Given the description of an element on the screen output the (x, y) to click on. 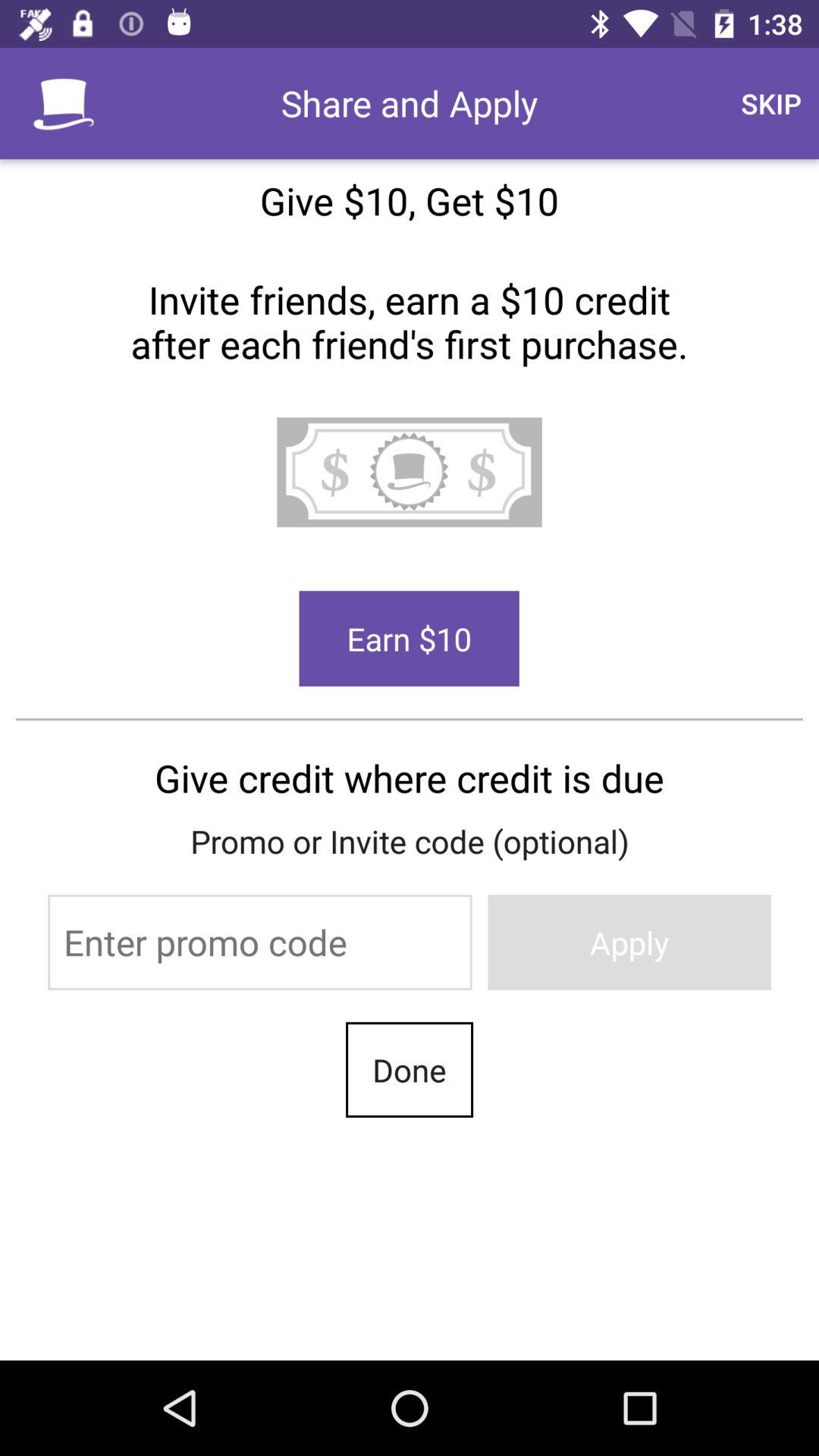
open the item on the left (259, 942)
